Given the description of an element on the screen output the (x, y) to click on. 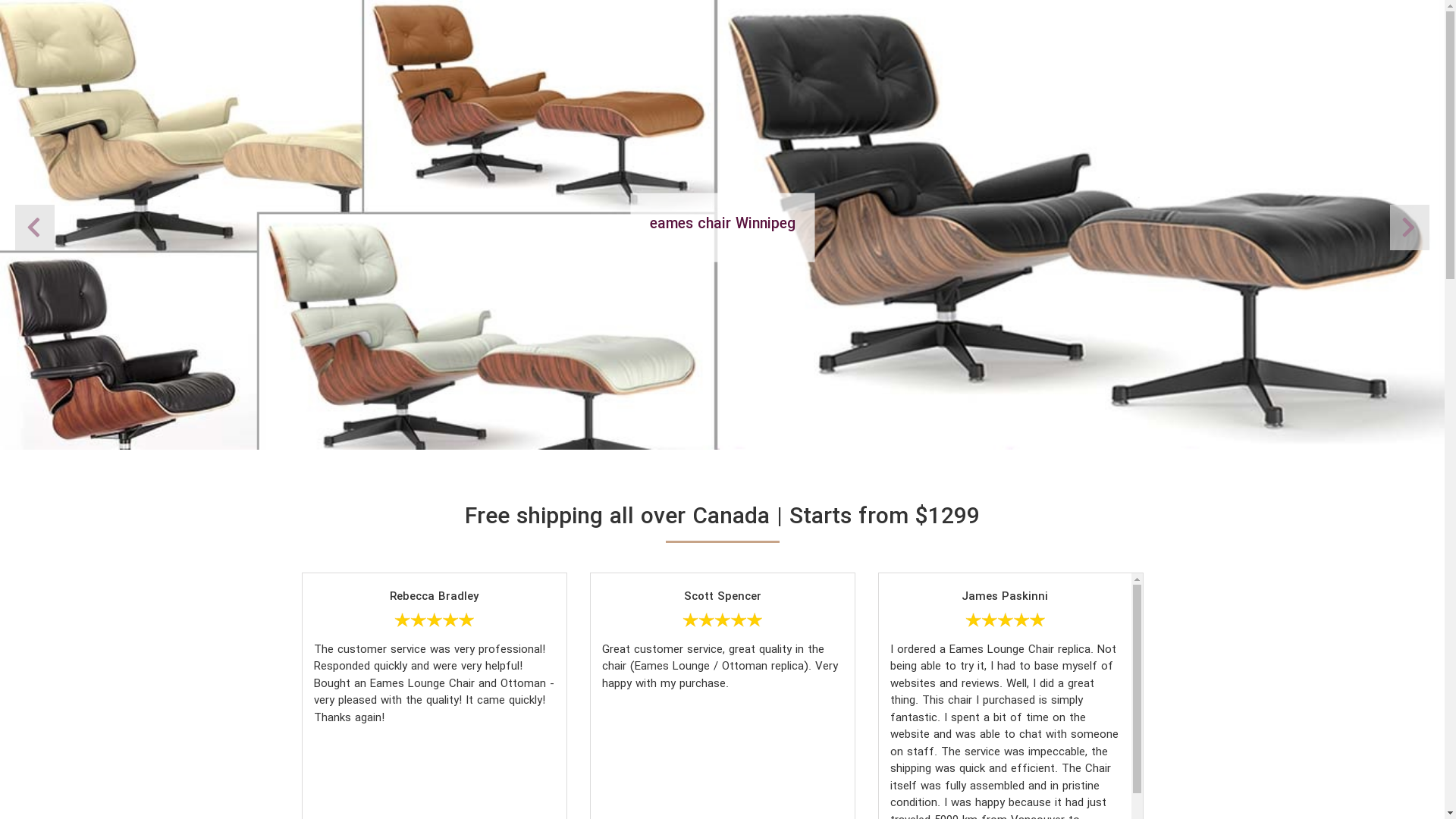
Previous Element type: text (1409, 227)
Next Element type: text (34, 227)
